Given the description of an element on the screen output the (x, y) to click on. 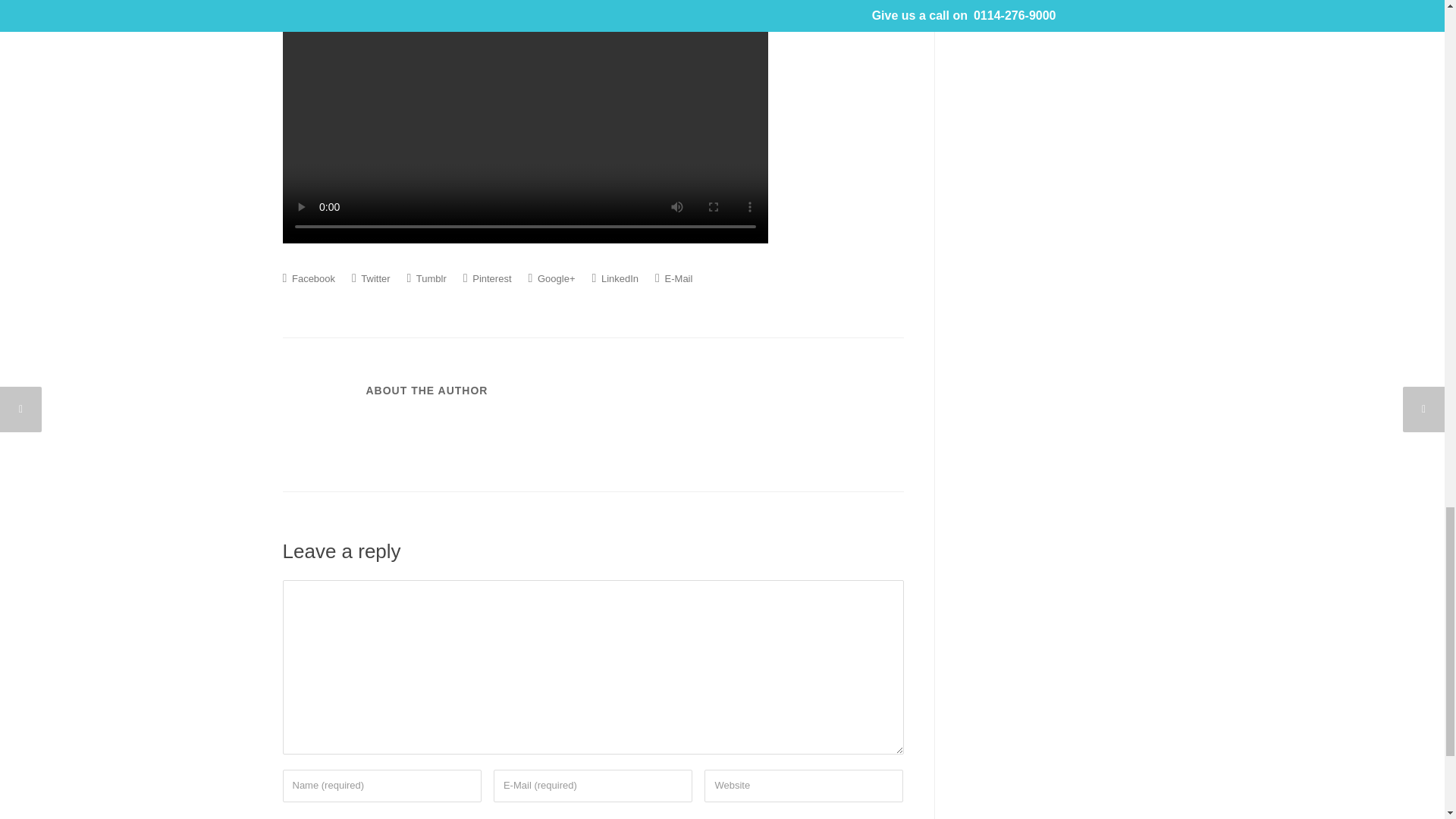
Share via Facebook (308, 277)
Share via LinkedIn (615, 277)
Share via Twitter (371, 277)
Share via E-Mail (674, 277)
Website (803, 785)
Share via Tumblr (426, 277)
Share via Pinterest (487, 277)
